Given the description of an element on the screen output the (x, y) to click on. 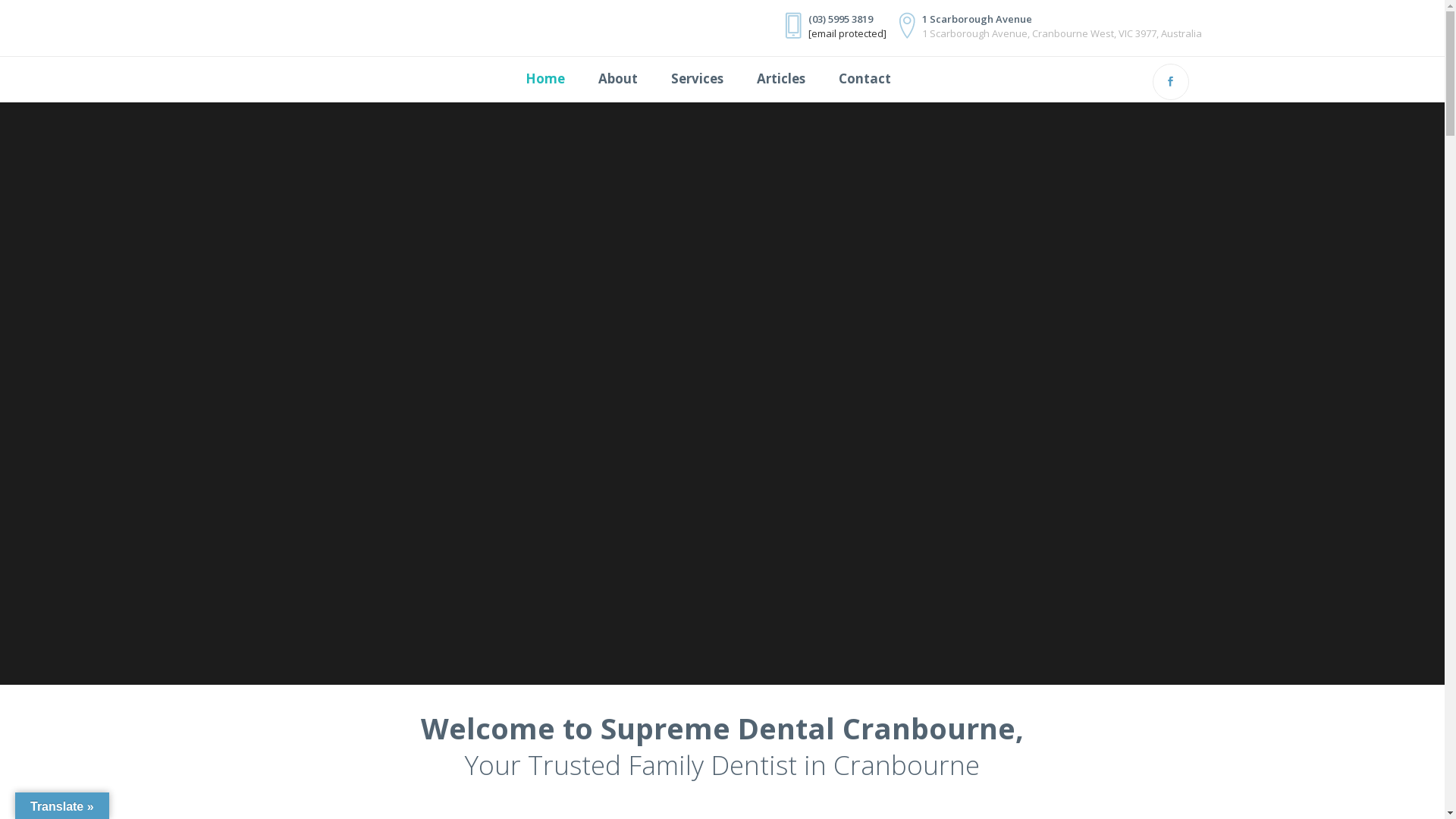
Services Element type: text (696, 78)
Articles Element type: text (781, 78)
About Element type: text (616, 78)
Home Element type: text (552, 78)
Contact Element type: text (864, 78)
[email protected] Element type: text (847, 33)
